Given the description of an element on the screen output the (x, y) to click on. 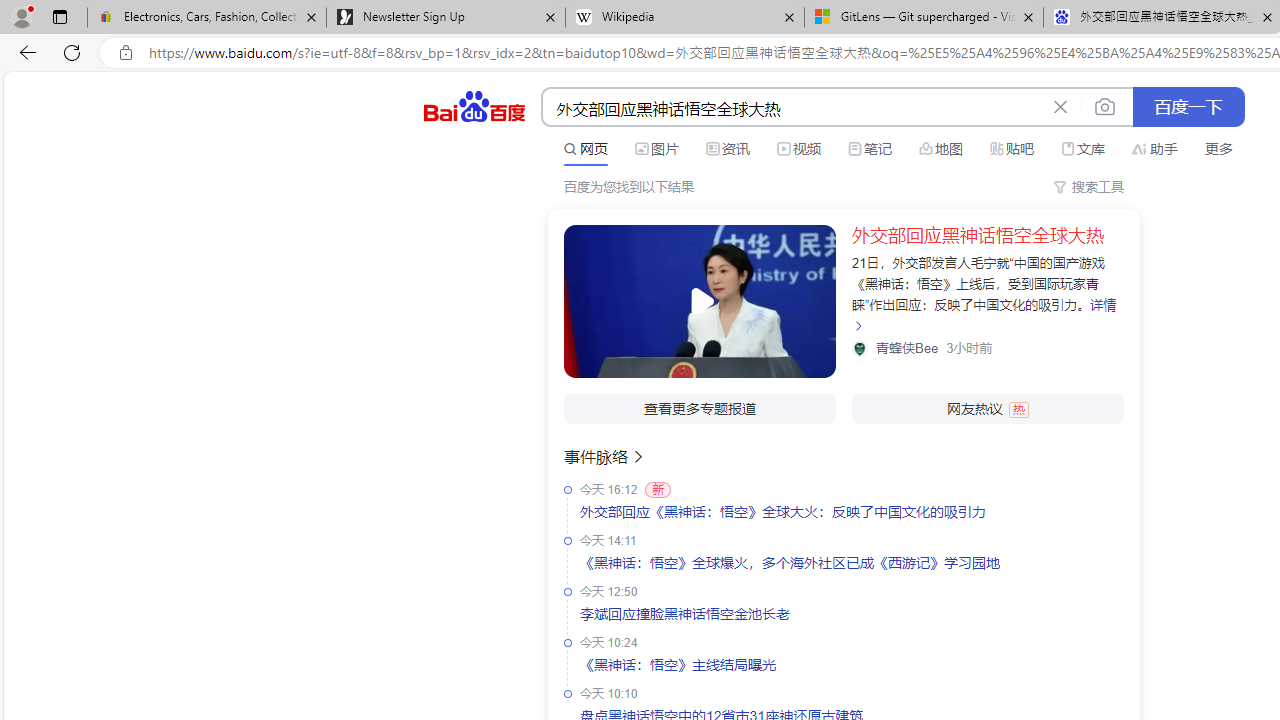
Refresh (72, 52)
Wikipedia (684, 17)
Back (24, 52)
